Given the description of an element on the screen output the (x, y) to click on. 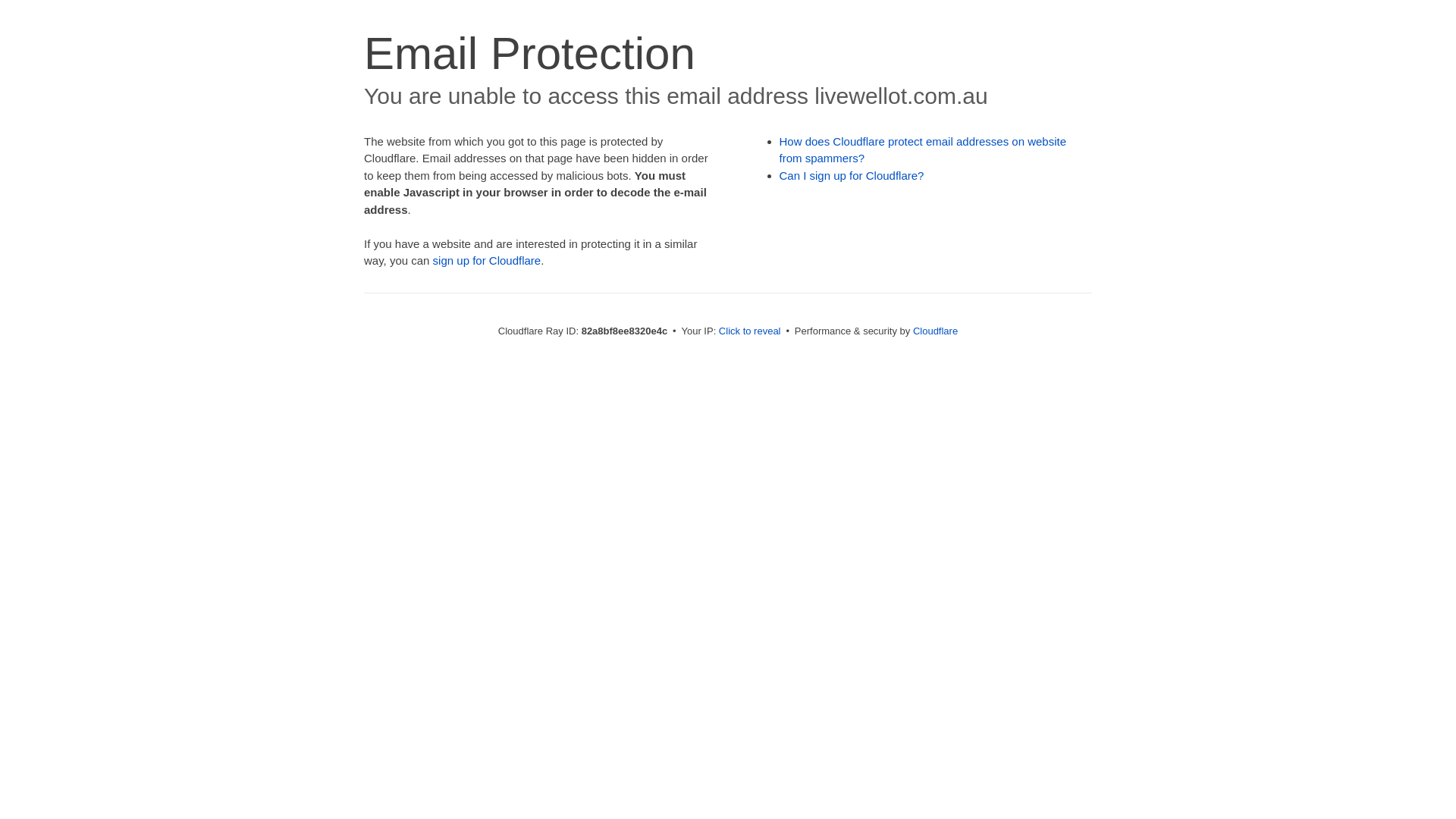
Cloudflare Element type: text (935, 330)
Click to reveal Element type: text (749, 330)
Can I sign up for Cloudflare? Element type: text (851, 175)
sign up for Cloudflare Element type: text (487, 260)
